Given the description of an element on the screen output the (x, y) to click on. 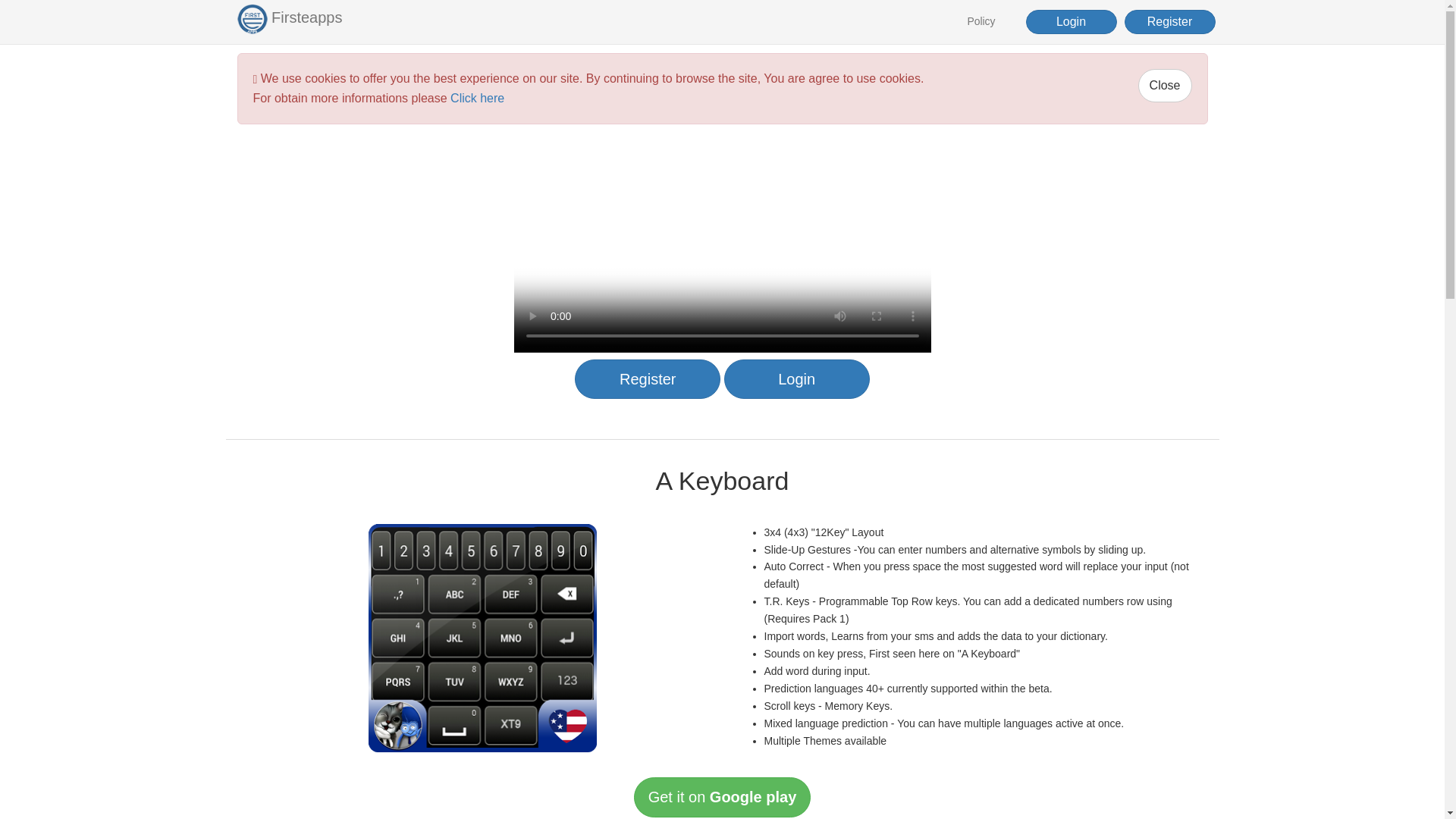
Policy (981, 21)
Policy (980, 21)
Firsteapps (289, 18)
Login (1070, 21)
Get it on Google play (721, 797)
Login (1071, 22)
Login (796, 379)
Register (1170, 22)
Click here (476, 97)
Register (1169, 21)
